Given the description of an element on the screen output the (x, y) to click on. 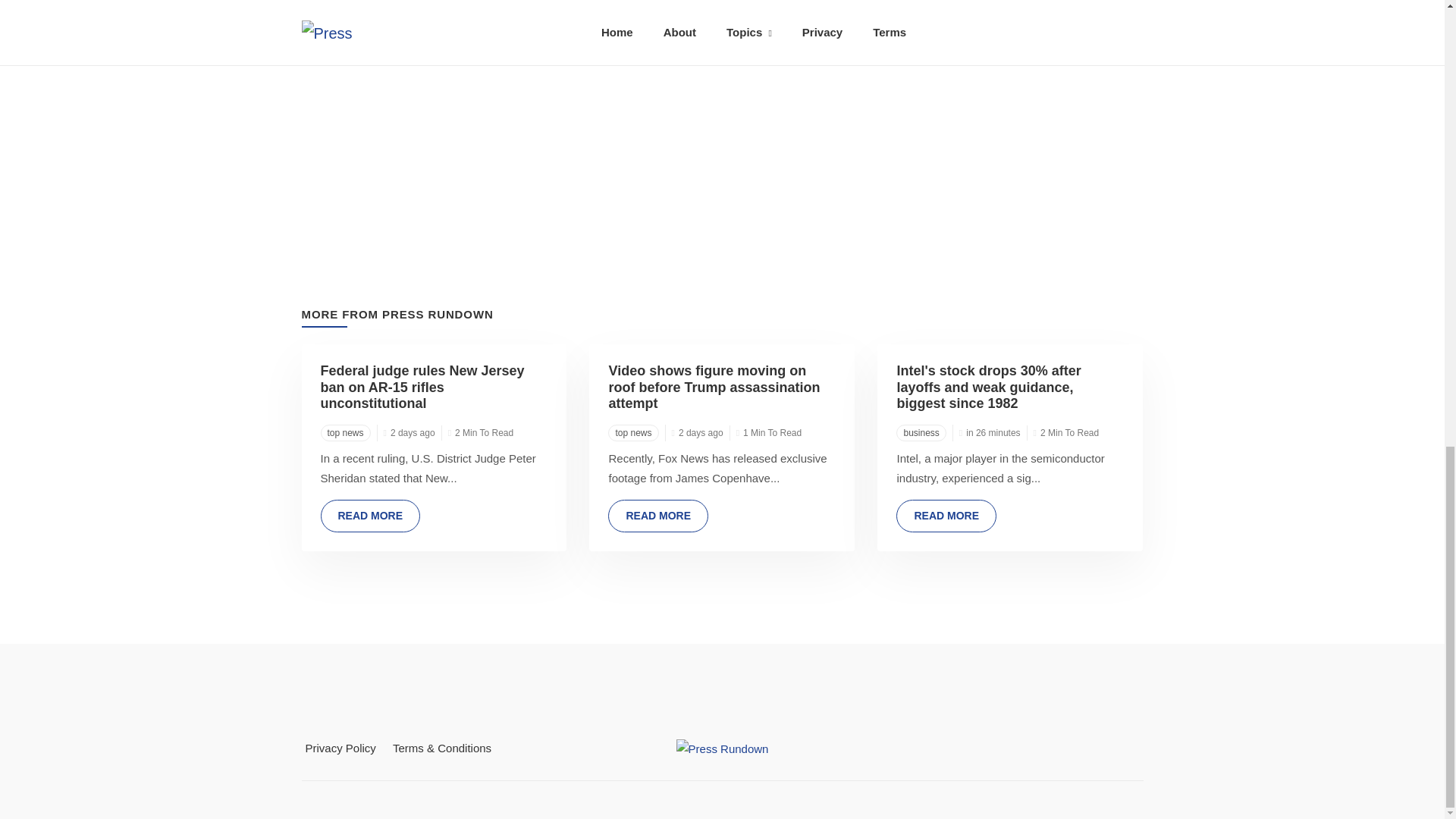
top news (633, 433)
top news (344, 433)
business (920, 433)
READ MORE (945, 515)
Privacy Policy (340, 748)
READ MORE (370, 515)
READ MORE (657, 515)
